Given the description of an element on the screen output the (x, y) to click on. 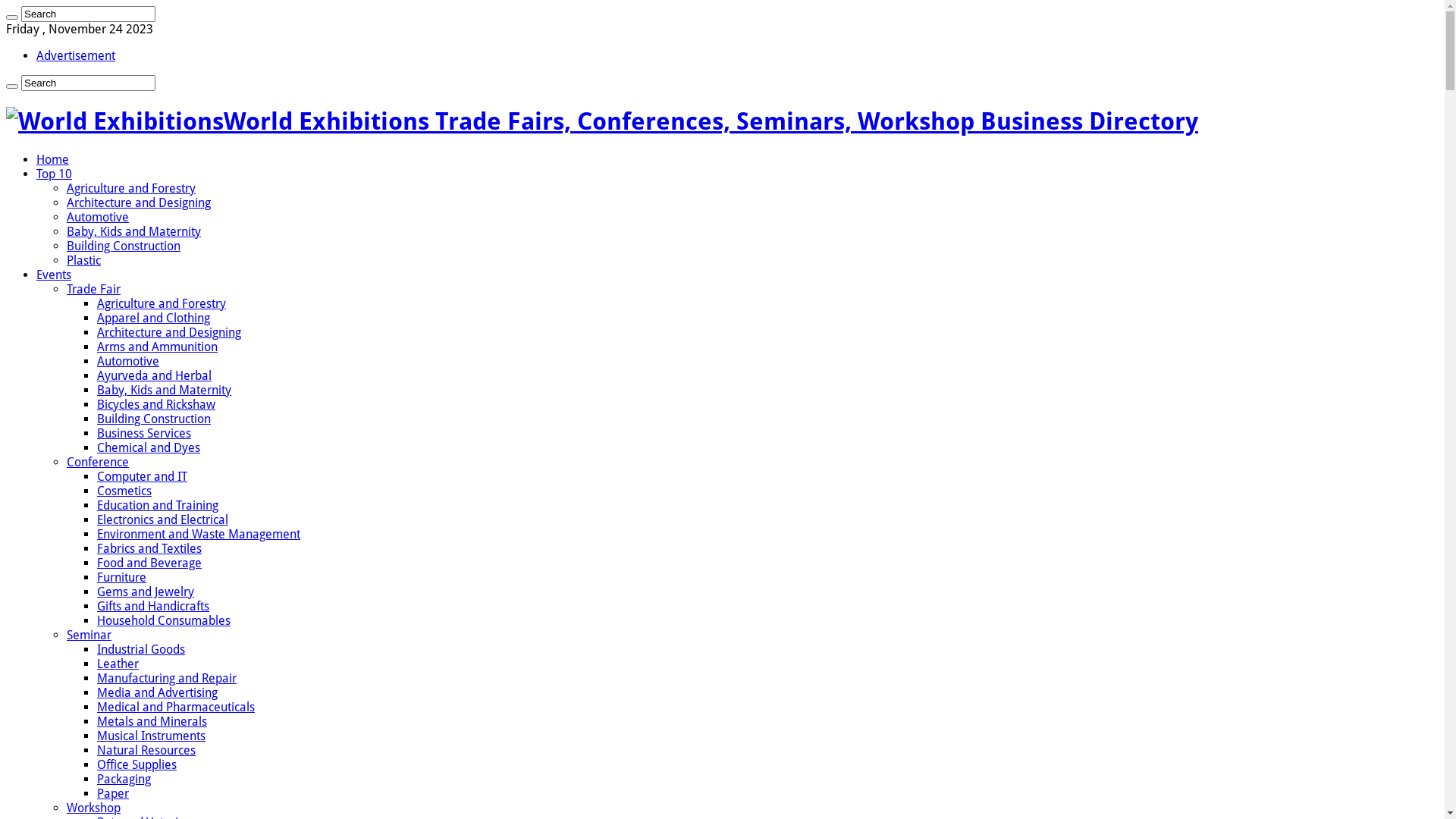
Agriculture and Forestry Element type: text (130, 188)
Search Element type: text (12, 17)
Industrial Goods Element type: text (141, 649)
Seminar Element type: text (88, 634)
Food and Beverage Element type: text (149, 562)
Automotive Element type: text (97, 217)
Arms and Ammunition Element type: text (157, 346)
Events Element type: text (53, 274)
Packaging Element type: text (123, 778)
Gems and Jewelry Element type: text (145, 591)
Office Supplies Element type: text (136, 764)
Electronics and Electrical Element type: text (162, 519)
Apparel and Clothing Element type: text (153, 317)
Search Element type: text (12, 86)
Plastic Element type: text (83, 260)
Building Construction Element type: text (153, 418)
Education and Training Element type: text (157, 505)
Workshop Element type: text (93, 807)
Computer and IT Element type: text (142, 476)
Business Services Element type: text (144, 433)
Media and Advertising Element type: text (157, 692)
Gifts and Handicrafts Element type: text (153, 606)
Top 10 Element type: text (54, 173)
Bicycles and Rickshaw Element type: text (156, 404)
Advertisement Element type: text (75, 55)
Building Construction Element type: text (123, 245)
Home Element type: text (52, 159)
Natural Resources Element type: text (146, 750)
Fabrics and Textiles Element type: text (149, 548)
Agriculture and Forestry Element type: text (161, 303)
Furniture Element type: text (121, 577)
Medical and Pharmaceuticals Element type: text (175, 706)
Cosmetics Element type: text (124, 490)
Conference Element type: text (97, 462)
Environment and Waste Management Element type: text (198, 534)
Architecture and Designing Element type: text (138, 202)
Metals and Minerals Element type: text (152, 721)
Paper Element type: text (112, 793)
Musical Instruments Element type: text (151, 735)
Search Element type: hover (88, 83)
Automotive Element type: text (128, 361)
Manufacturing and Repair Element type: text (166, 678)
Search Element type: hover (88, 13)
Architecture and Designing Element type: text (169, 332)
Baby, Kids and Maternity Element type: text (133, 231)
Chemical and Dyes Element type: text (148, 447)
Ayurveda and Herbal Element type: text (154, 375)
Trade Fair Element type: text (93, 289)
Baby, Kids and Maternity Element type: text (164, 389)
Household Consumables Element type: text (163, 620)
Leather Element type: text (117, 663)
